Given the description of an element on the screen output the (x, y) to click on. 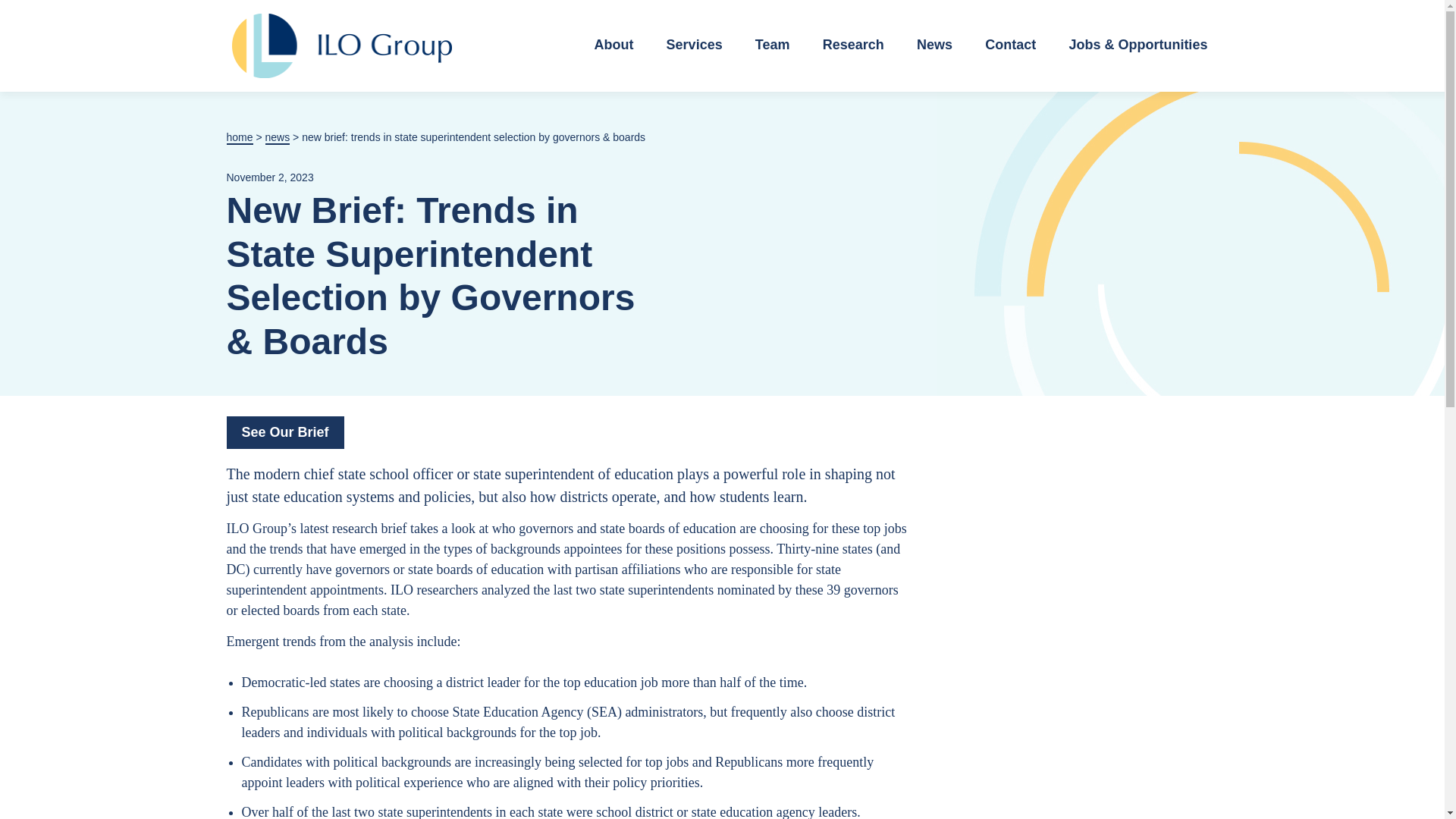
Research (853, 45)
Contact (1010, 45)
home (238, 137)
News (934, 45)
Services (694, 45)
news (276, 137)
See Our Brief (284, 432)
Team (772, 45)
About (612, 45)
